Given the description of an element on the screen output the (x, y) to click on. 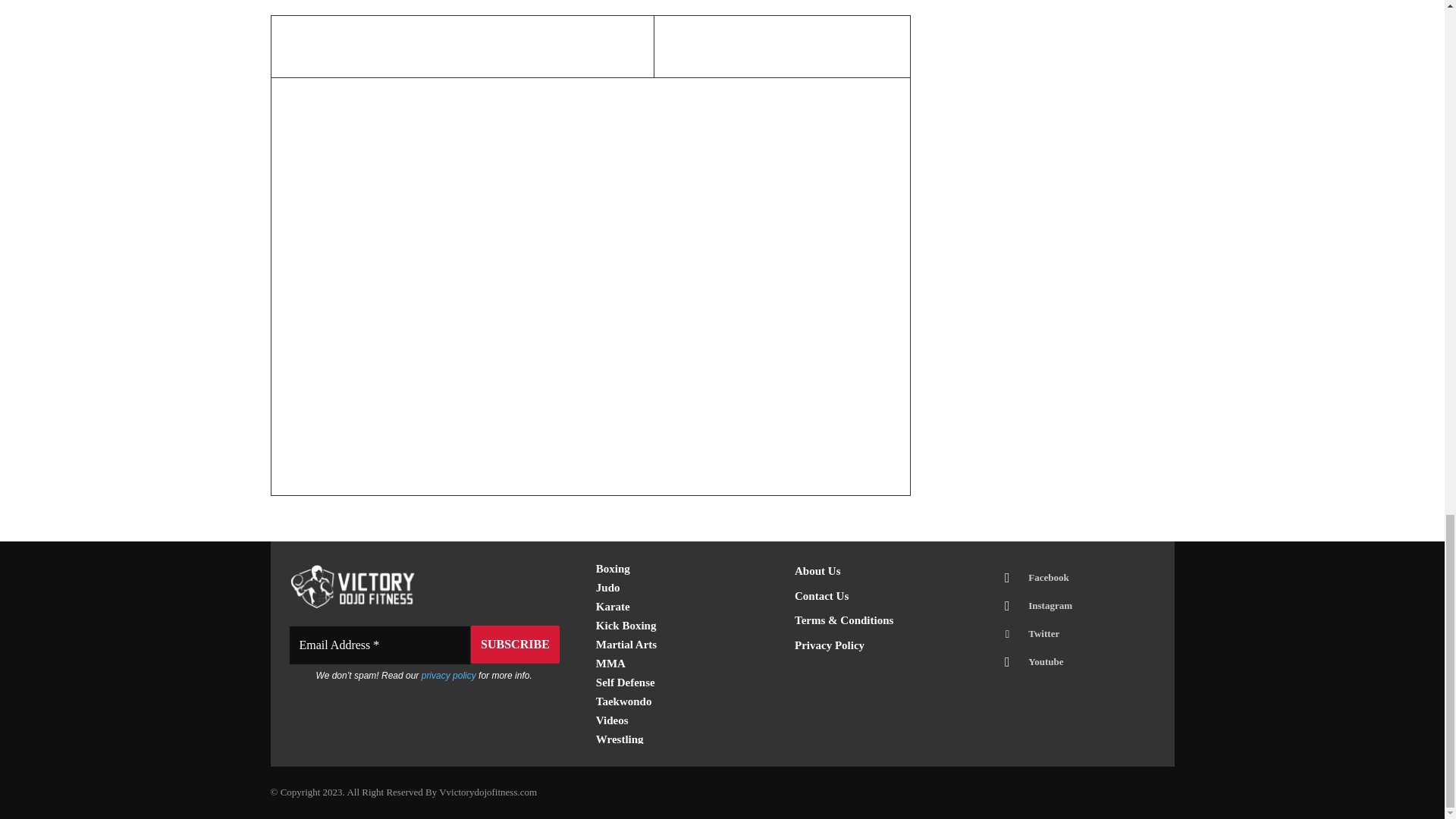
SUBSCRIBE (514, 644)
